Given the description of an element on the screen output the (x, y) to click on. 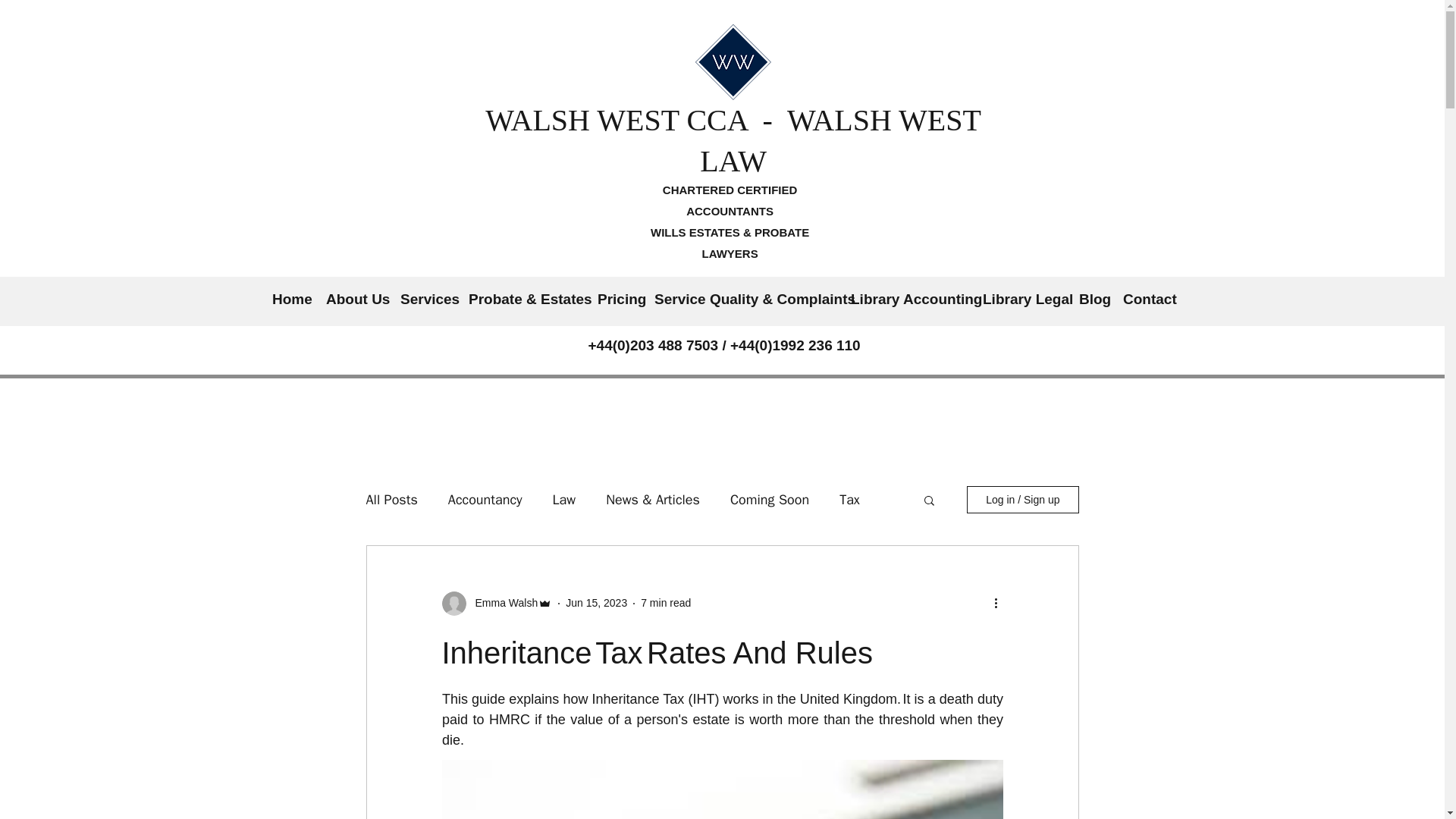
7 min read (665, 603)
Library Accounting (909, 298)
Jun 15, 2023 (596, 603)
Services (427, 298)
About Us (355, 298)
Coming Soon (769, 498)
Pricing (617, 298)
Contact (1147, 298)
Tax (850, 498)
WALSH WEST CCA  -  WALSH WEST LAW (732, 140)
